Given the description of an element on the screen output the (x, y) to click on. 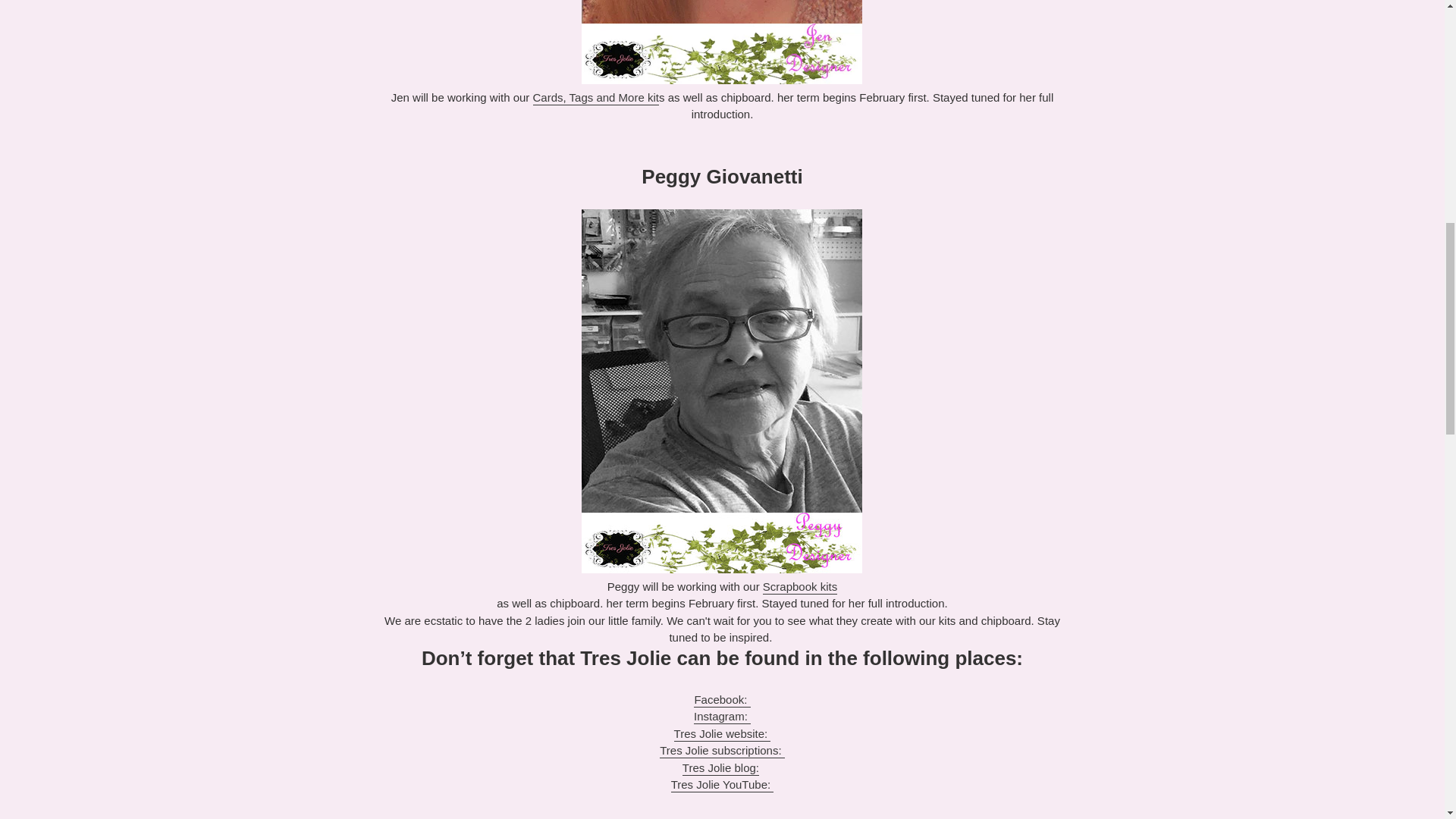
Tres Jolie Facebook page (721, 699)
Tres Jolie Youtube channel (722, 785)
Tres Jolie Blog (720, 768)
subscriptions (721, 750)
